Given the description of an element on the screen output the (x, y) to click on. 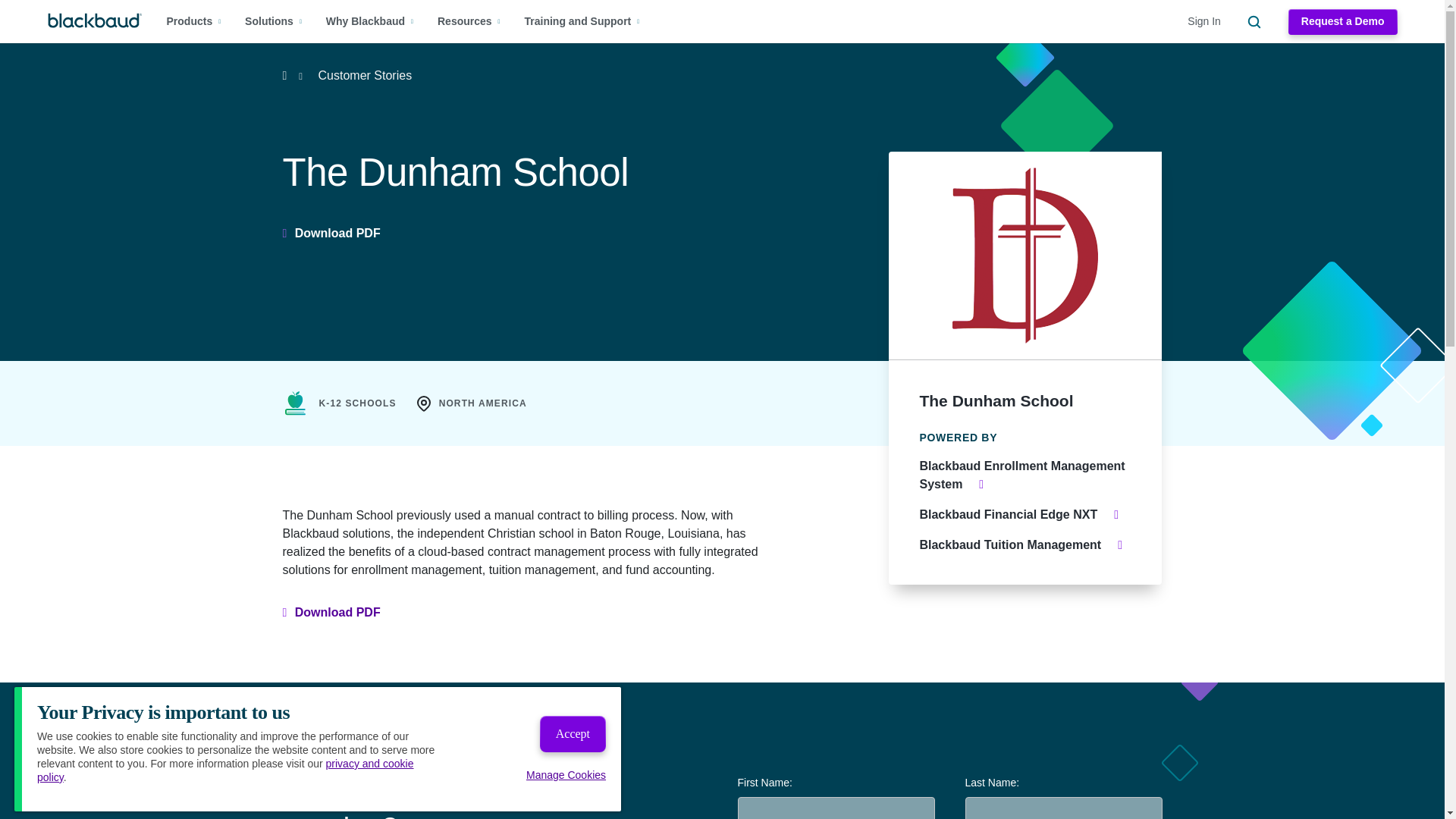
Why Blackbaud (369, 21)
Products (194, 21)
Solutions (272, 21)
